Given the description of an element on the screen output the (x, y) to click on. 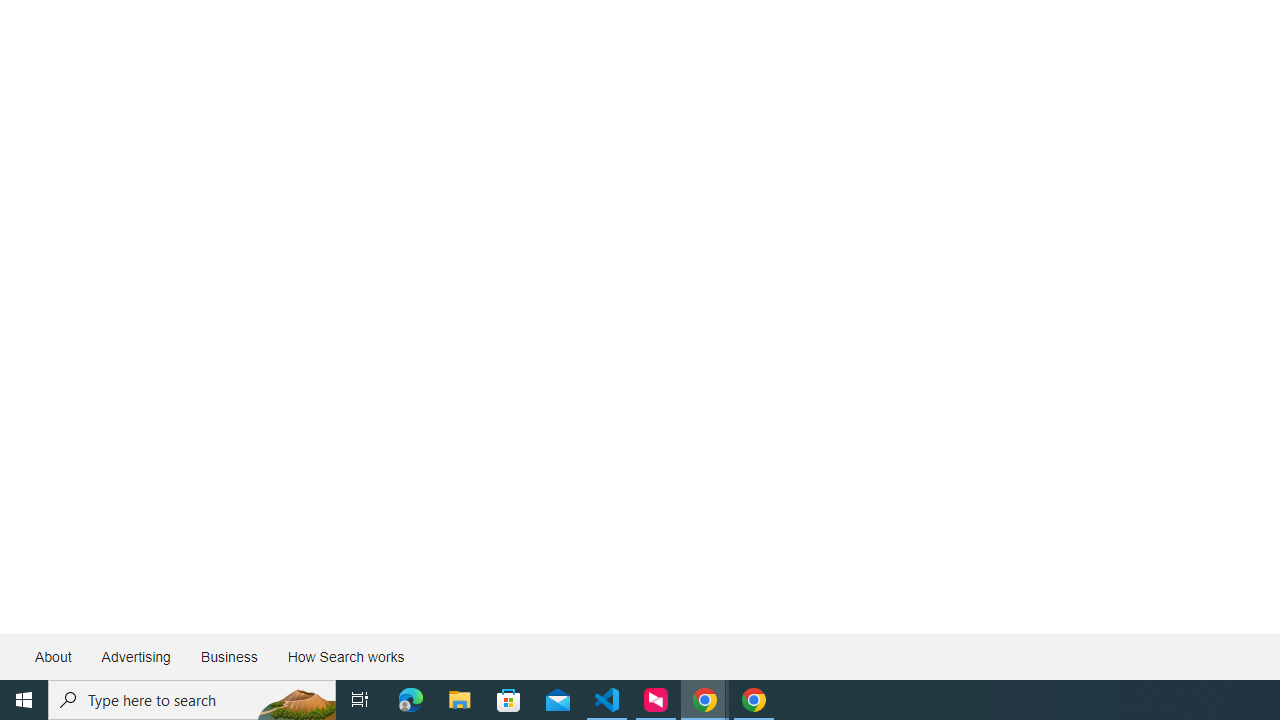
How Search works (345, 656)
About (53, 656)
Business (228, 656)
Advertising (135, 656)
